Given the description of an element on the screen output the (x, y) to click on. 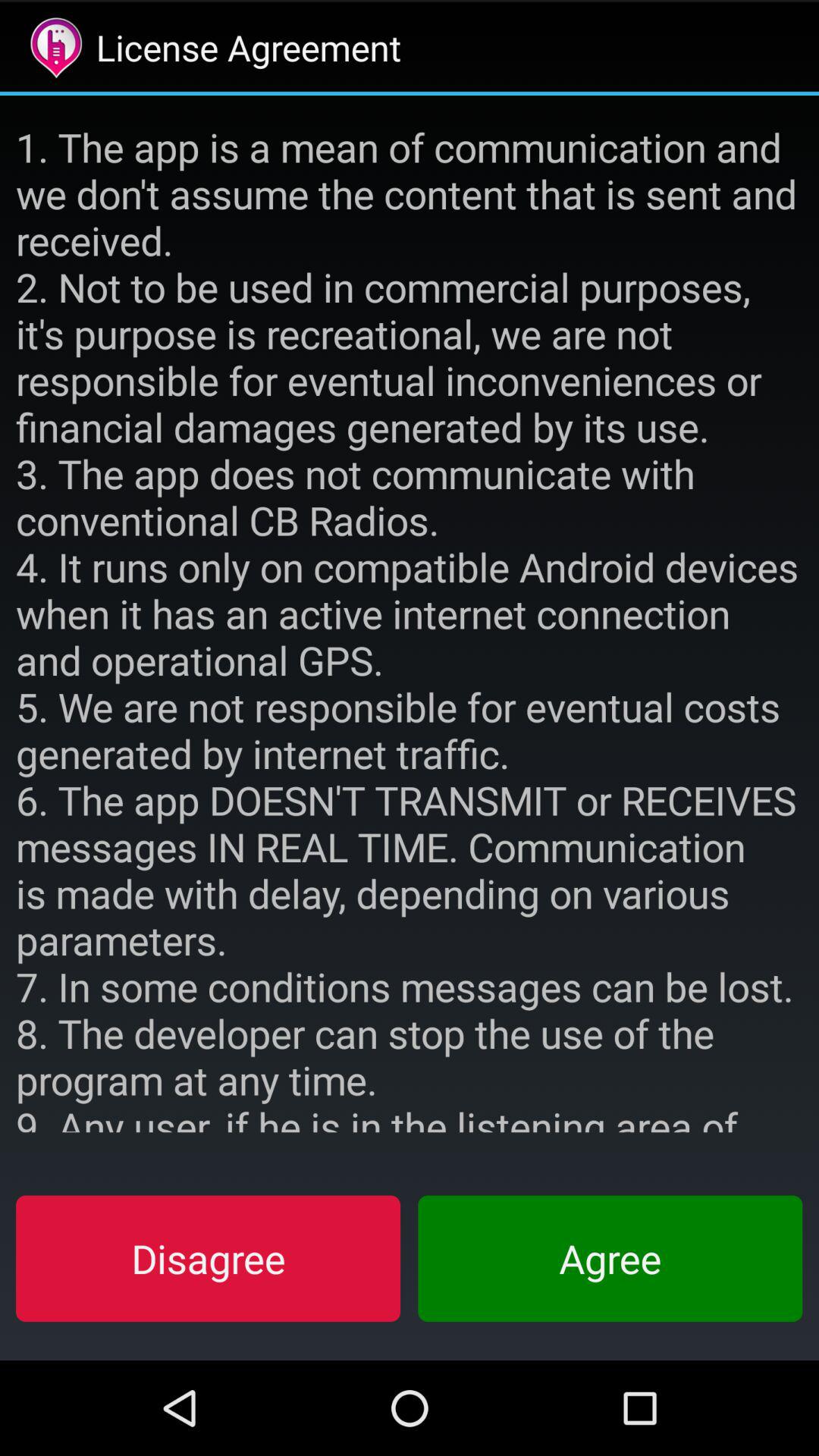
turn off item at the bottom right corner (610, 1258)
